Given the description of an element on the screen output the (x, y) to click on. 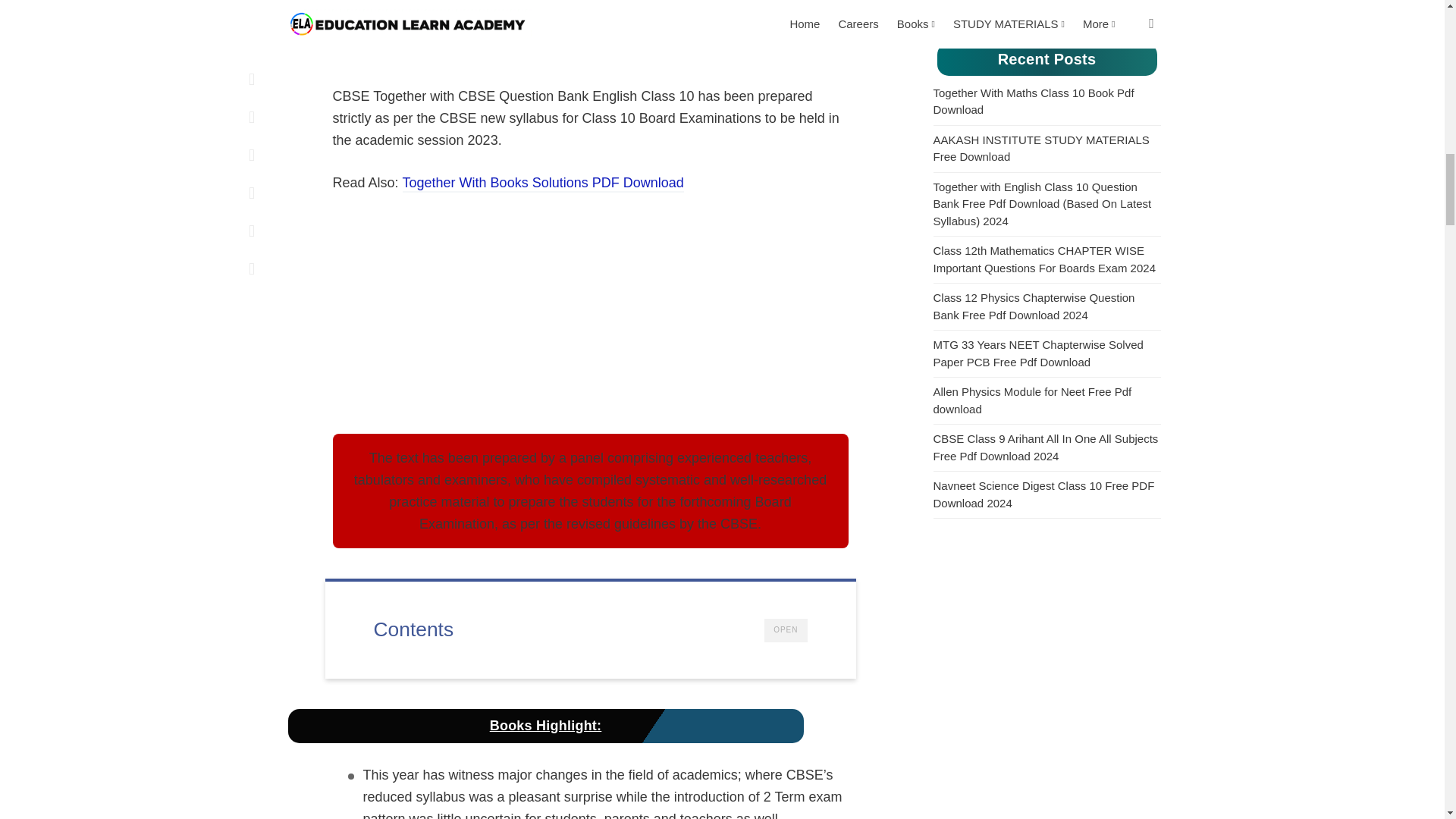
OPEN (785, 630)
Together With Books Solutions PDF Download (543, 183)
